Given the description of an element on the screen output the (x, y) to click on. 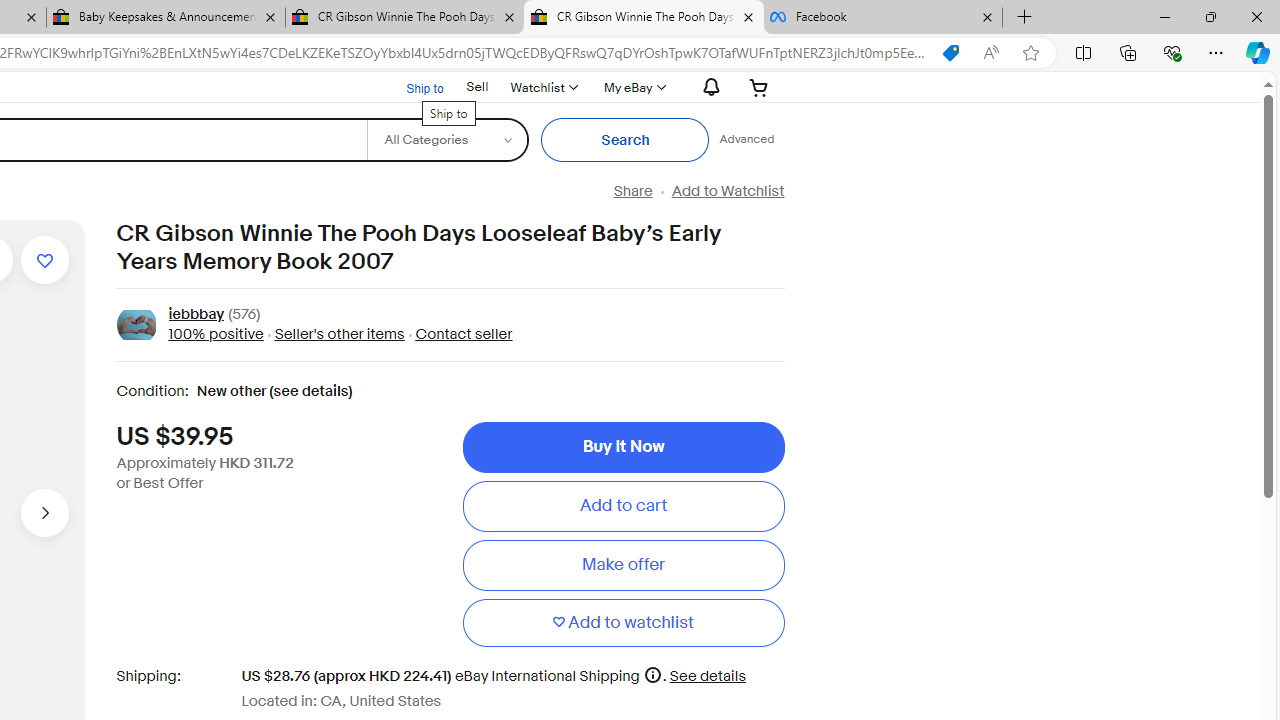
You have the best price! (950, 53)
AutomationID: gh-shipto-click (412, 85)
